Given the description of an element on the screen output the (x, y) to click on. 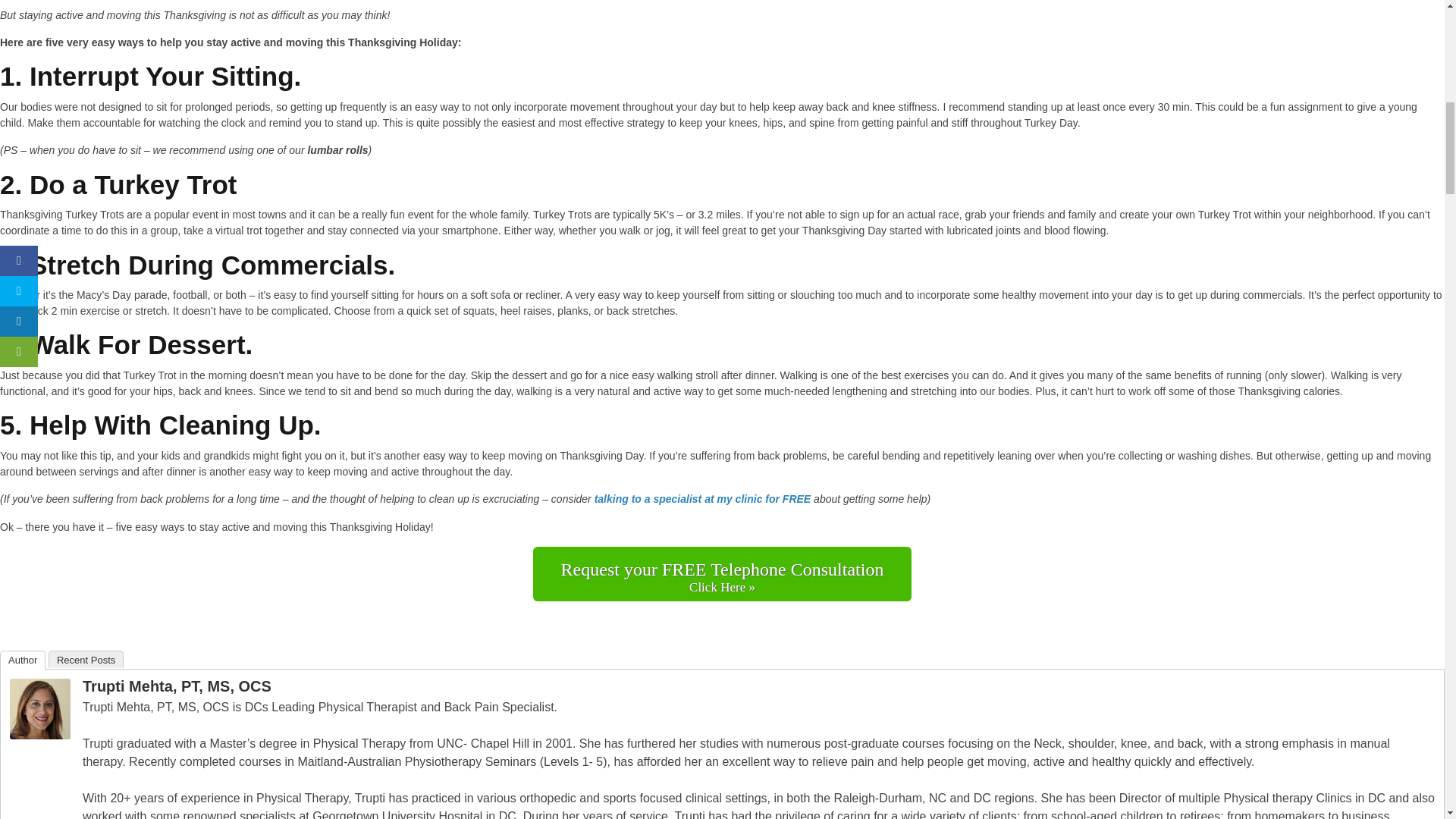
talking to a specialist at my clinic for FREE (702, 499)
Trupti Mehta, PT, MS, OCS (39, 735)
